Given the description of an element on the screen output the (x, y) to click on. 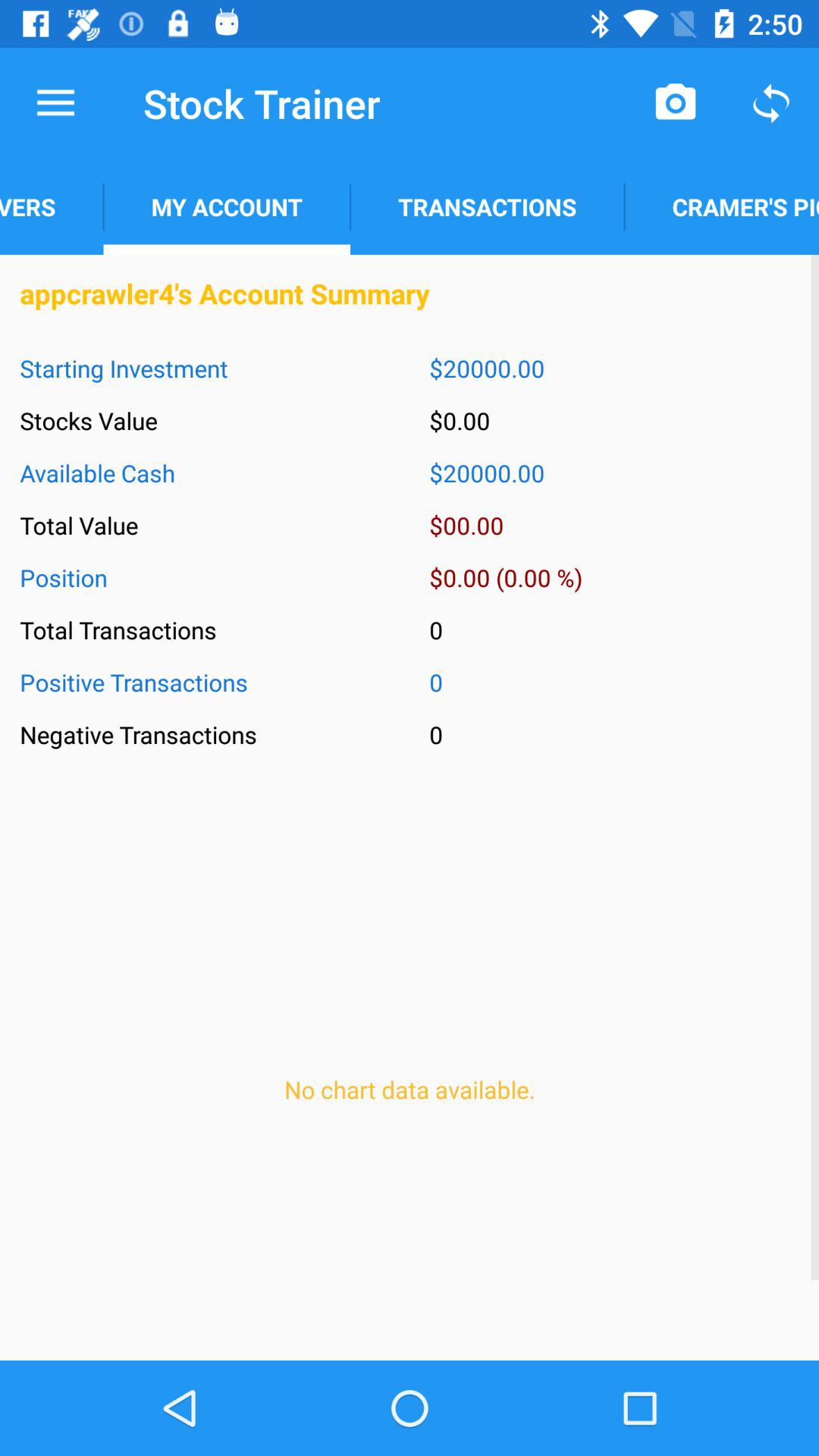
turn off the icon next to the transactions (721, 206)
